Given the description of an element on the screen output the (x, y) to click on. 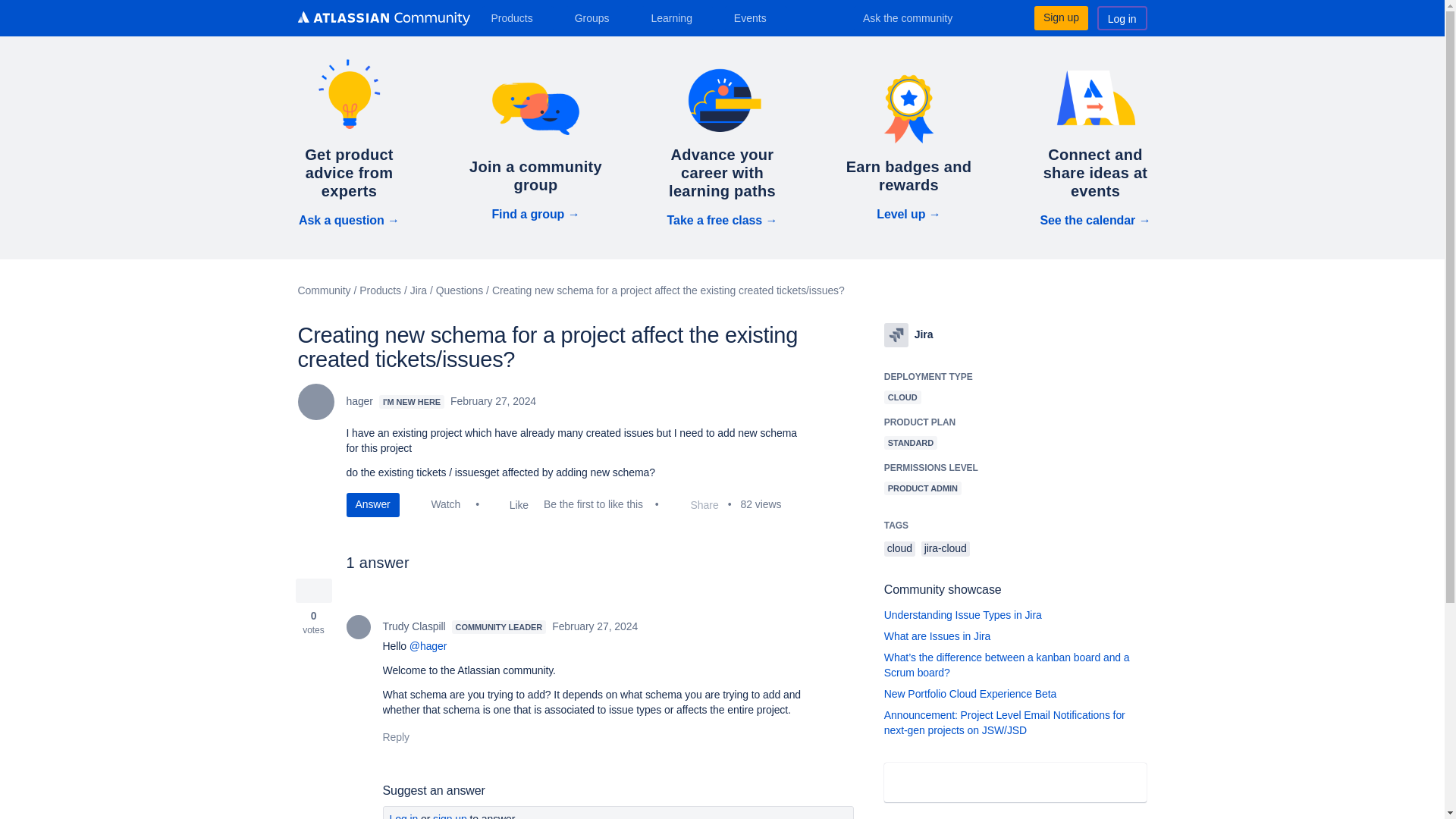
Sign up (1060, 17)
Learning (676, 17)
Atlassian Community logo (382, 19)
Log in (1122, 17)
Products (517, 17)
Trudy Claspill (357, 627)
Groups (598, 17)
Events (756, 17)
Ask the community  (917, 17)
hager (315, 402)
Jira (895, 334)
Atlassian Community logo (382, 18)
